Given the description of an element on the screen output the (x, y) to click on. 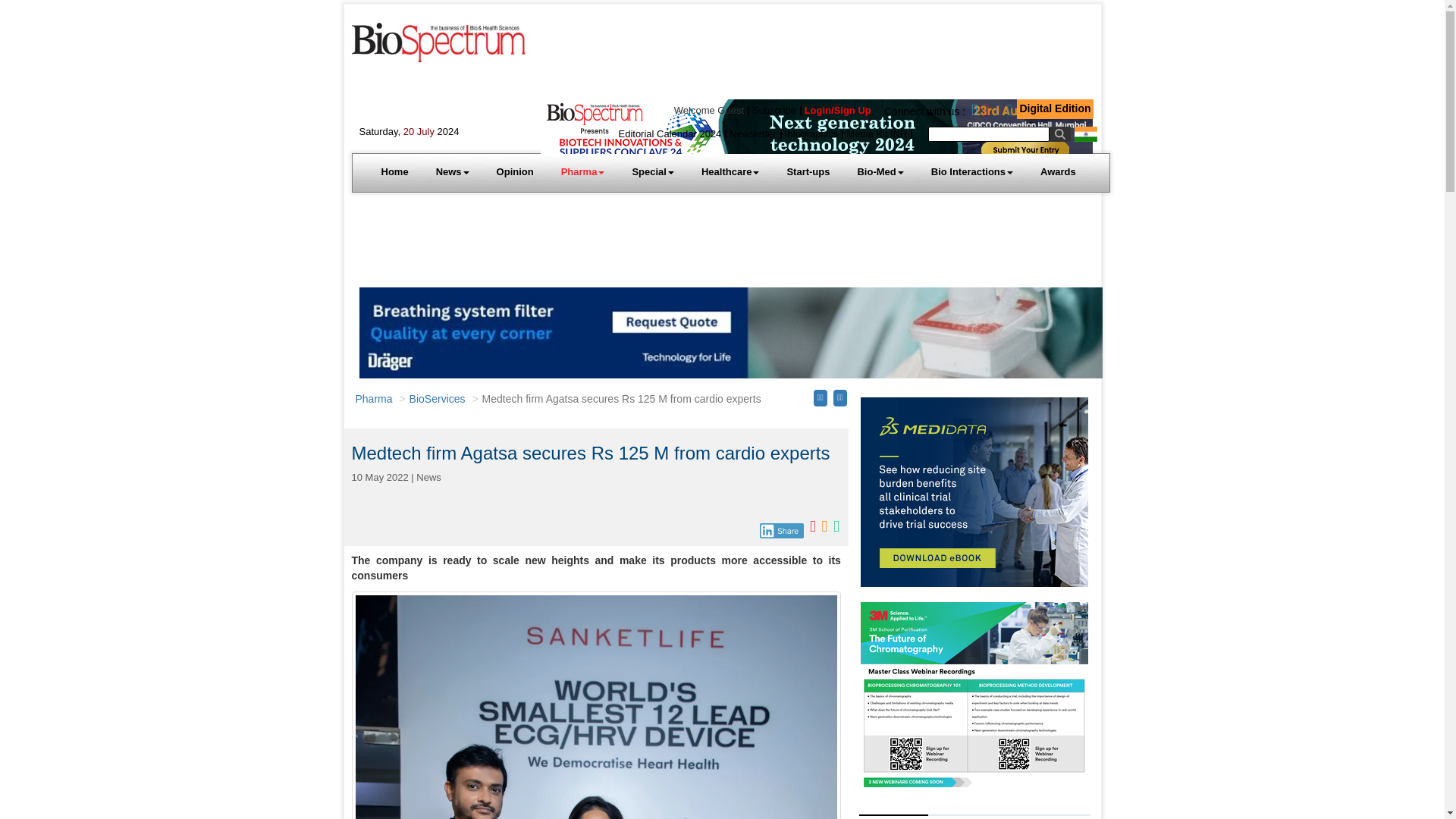
Media Kit INR (876, 133)
Pharma (582, 171)
Subscribe (774, 110)
Home (394, 171)
Opinion (515, 171)
News (452, 171)
Digital Edition (1054, 108)
Newsletter (752, 133)
Editorial Calendar 2024 (668, 133)
Infographics (811, 133)
Special (652, 171)
